Given the description of an element on the screen output the (x, y) to click on. 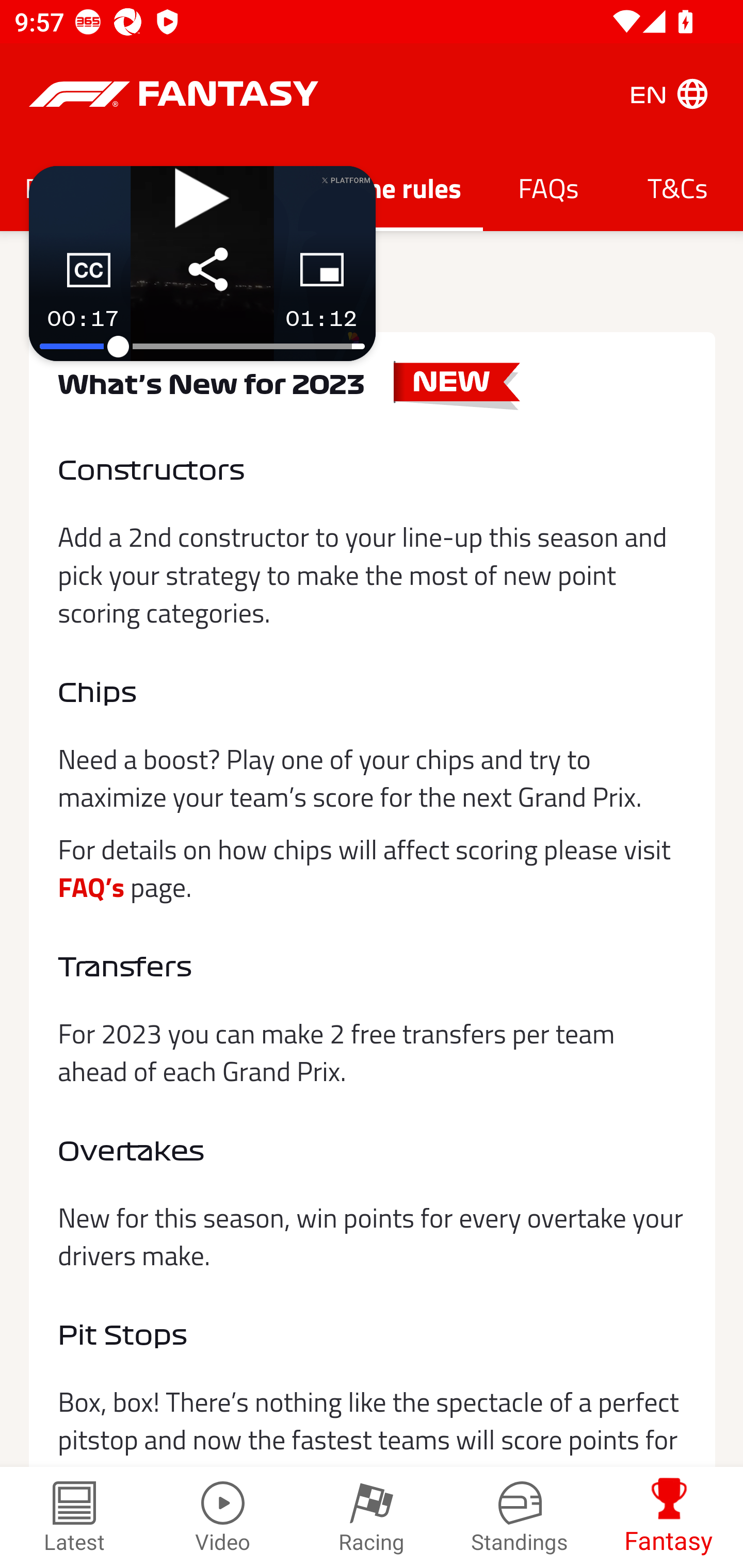
FAQs (547, 187)
T&Cs (677, 187)
FAQ’s (91, 873)
Latest (74, 1517)
Video (222, 1517)
Racing (371, 1517)
Standings (519, 1517)
